Given the description of an element on the screen output the (x, y) to click on. 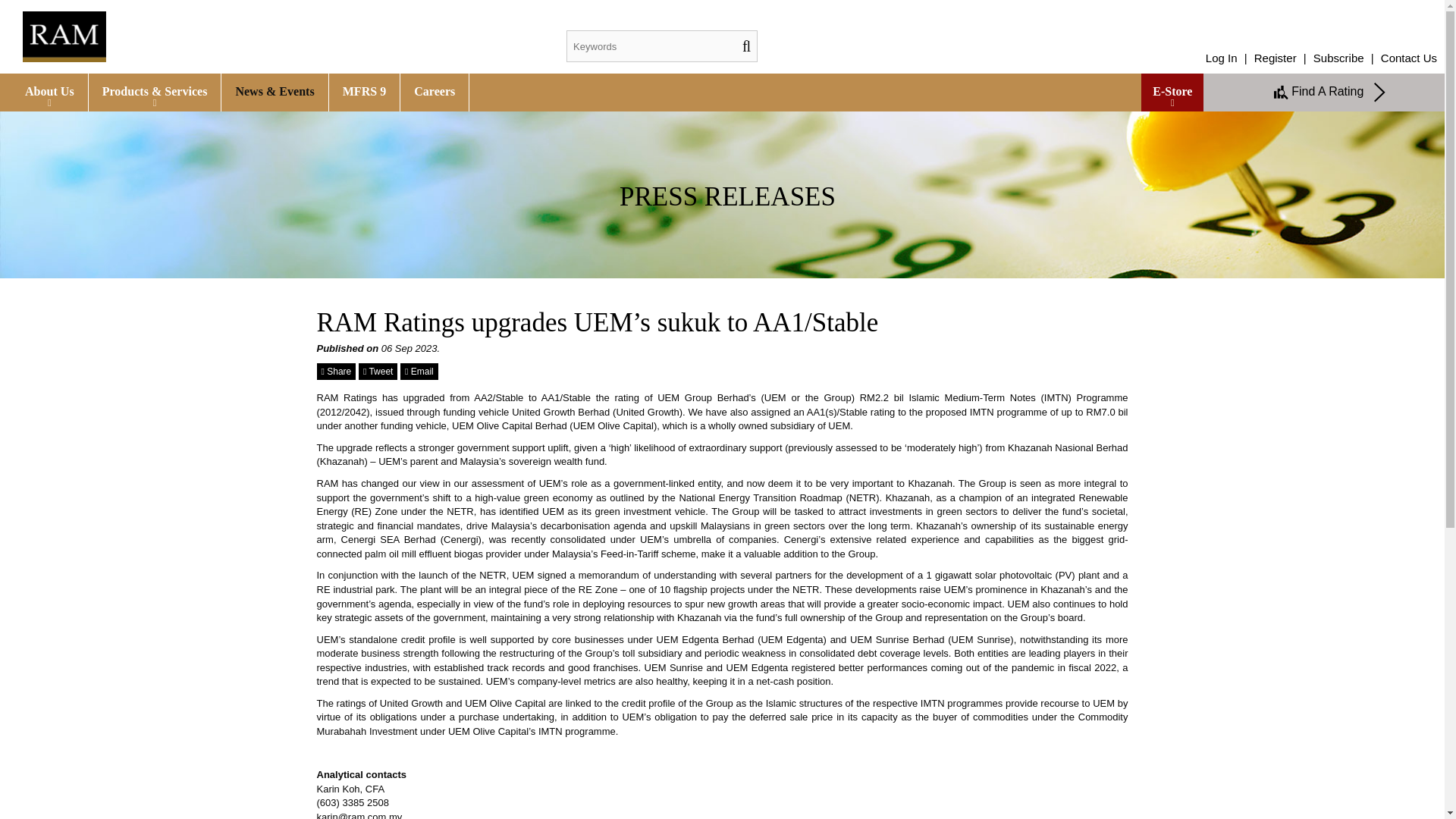
Register (1275, 57)
Share it on Linkedin (336, 371)
Careers (434, 92)
Share by Email (419, 371)
About Us (49, 92)
MFRS 9 (364, 92)
Subscribe (1338, 57)
E-Store (1172, 92)
Log In (1221, 57)
Register (1275, 57)
Tweet it on Twitter (377, 371)
Log In (1221, 57)
Contact Us (1409, 57)
